Given the description of an element on the screen output the (x, y) to click on. 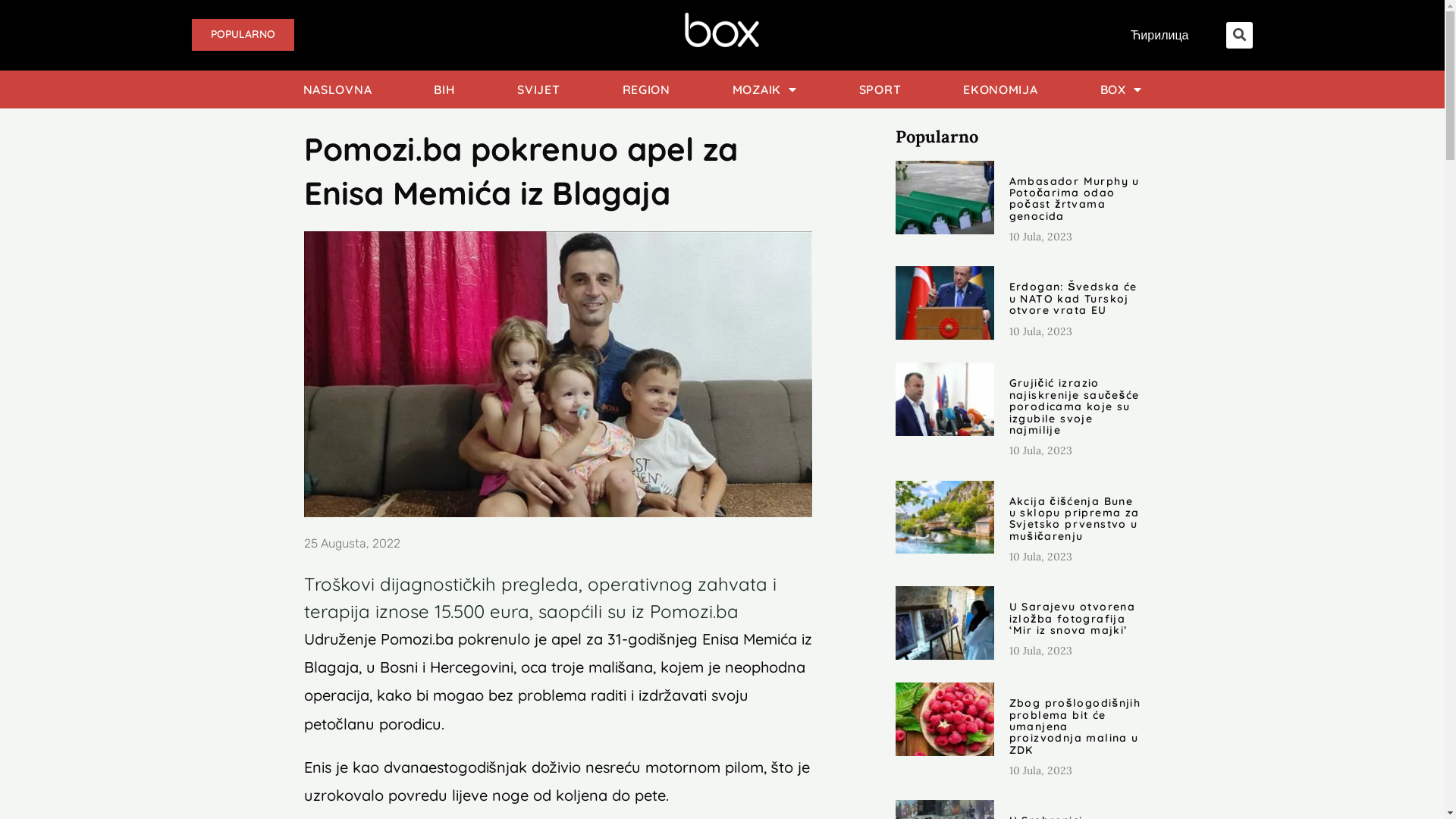
SPORT Element type: text (879, 88)
BIH Element type: text (444, 88)
MOZAIK Element type: text (764, 88)
SVIJET Element type: text (537, 88)
BOX Element type: text (1121, 88)
POPULARNO Element type: text (242, 34)
EKONOMIJA Element type: text (999, 88)
REGION Element type: text (646, 88)
NASLOVNA Element type: text (337, 88)
25 Augusta, 2022 Element type: text (351, 543)
